Given the description of an element on the screen output the (x, y) to click on. 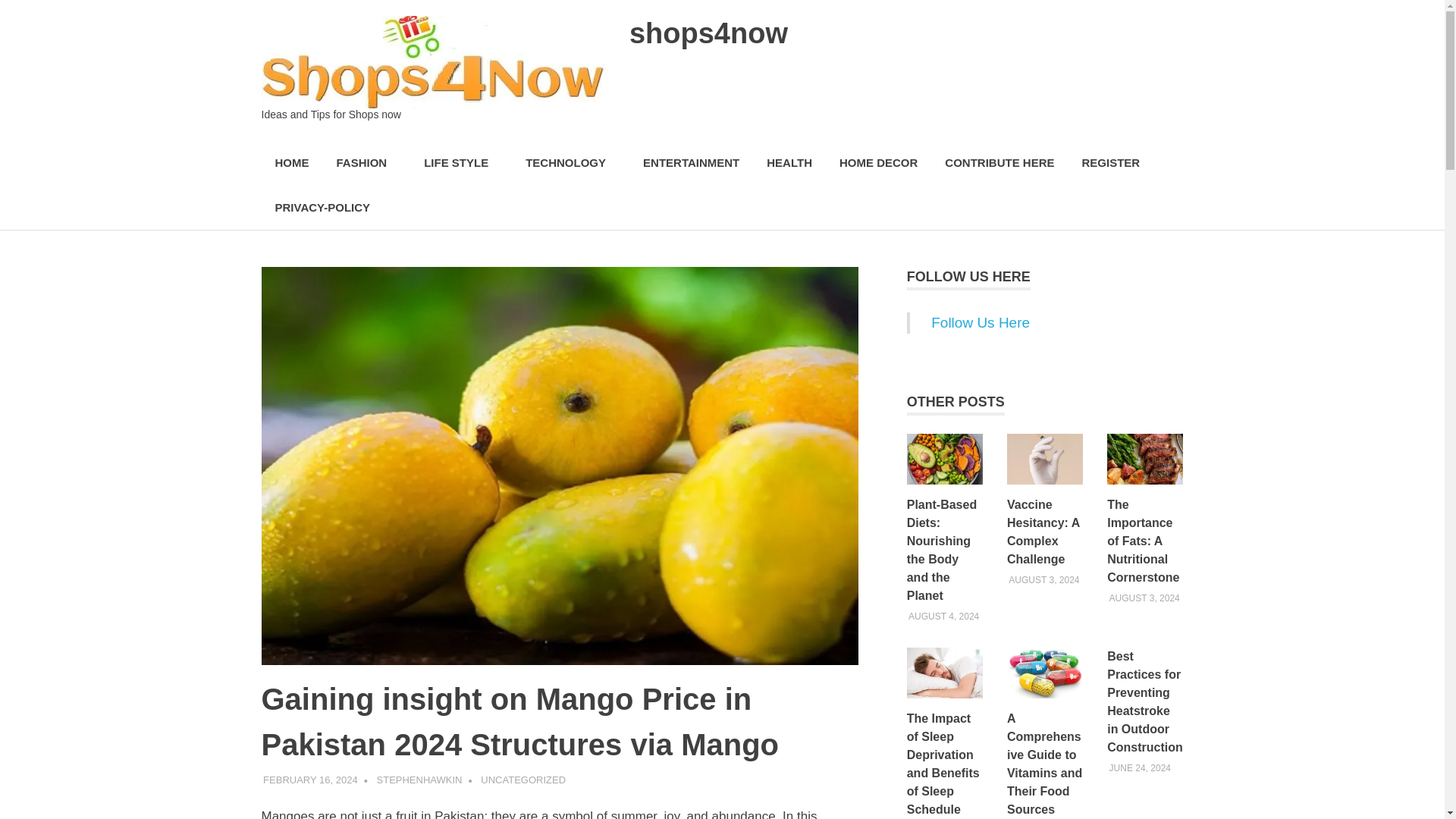
FEBRUARY 16, 2024 (310, 779)
HEALTH (788, 162)
REGISTER (1110, 162)
3:12 pm (310, 779)
TECHNOLOGY (570, 162)
CONTRIBUTE HERE (999, 162)
UNCATEGORIZED (523, 779)
FASHION (366, 162)
STEPHENHAWKIN (420, 779)
View all posts by stephenhawkin (420, 779)
shops4now (707, 33)
PRIVACY-POLICY (322, 207)
LIFE STYLE (461, 162)
ENTERTAINMENT (690, 162)
HOME DECOR (878, 162)
